Given the description of an element on the screen output the (x, y) to click on. 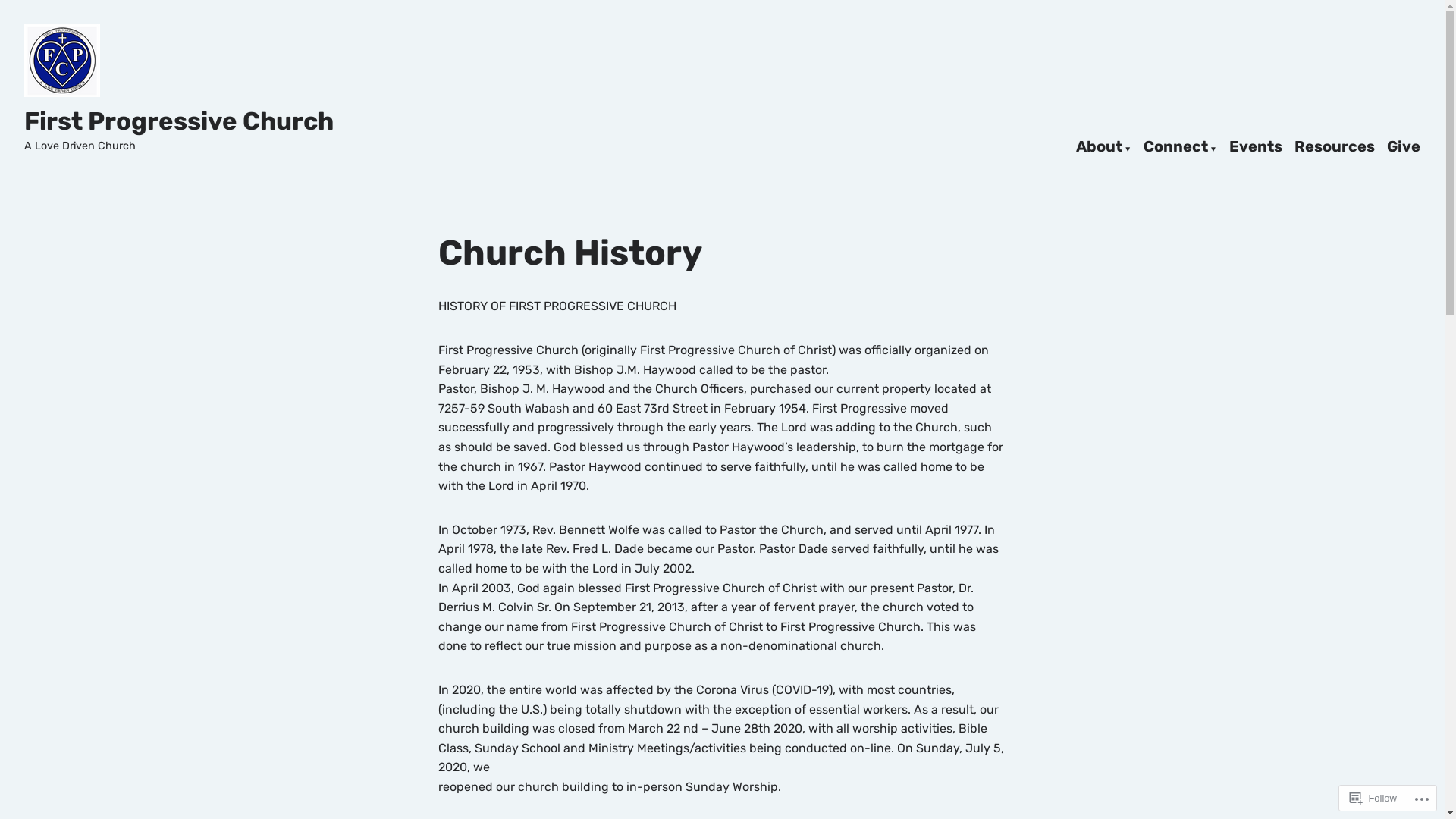
About Element type: text (1103, 146)
Resources Element type: text (1334, 146)
Connect Element type: text (1180, 146)
First Progressive Church Element type: text (178, 120)
Events Element type: text (1255, 146)
Give Element type: text (1403, 146)
Follow Element type: text (1372, 797)
